Given the description of an element on the screen output the (x, y) to click on. 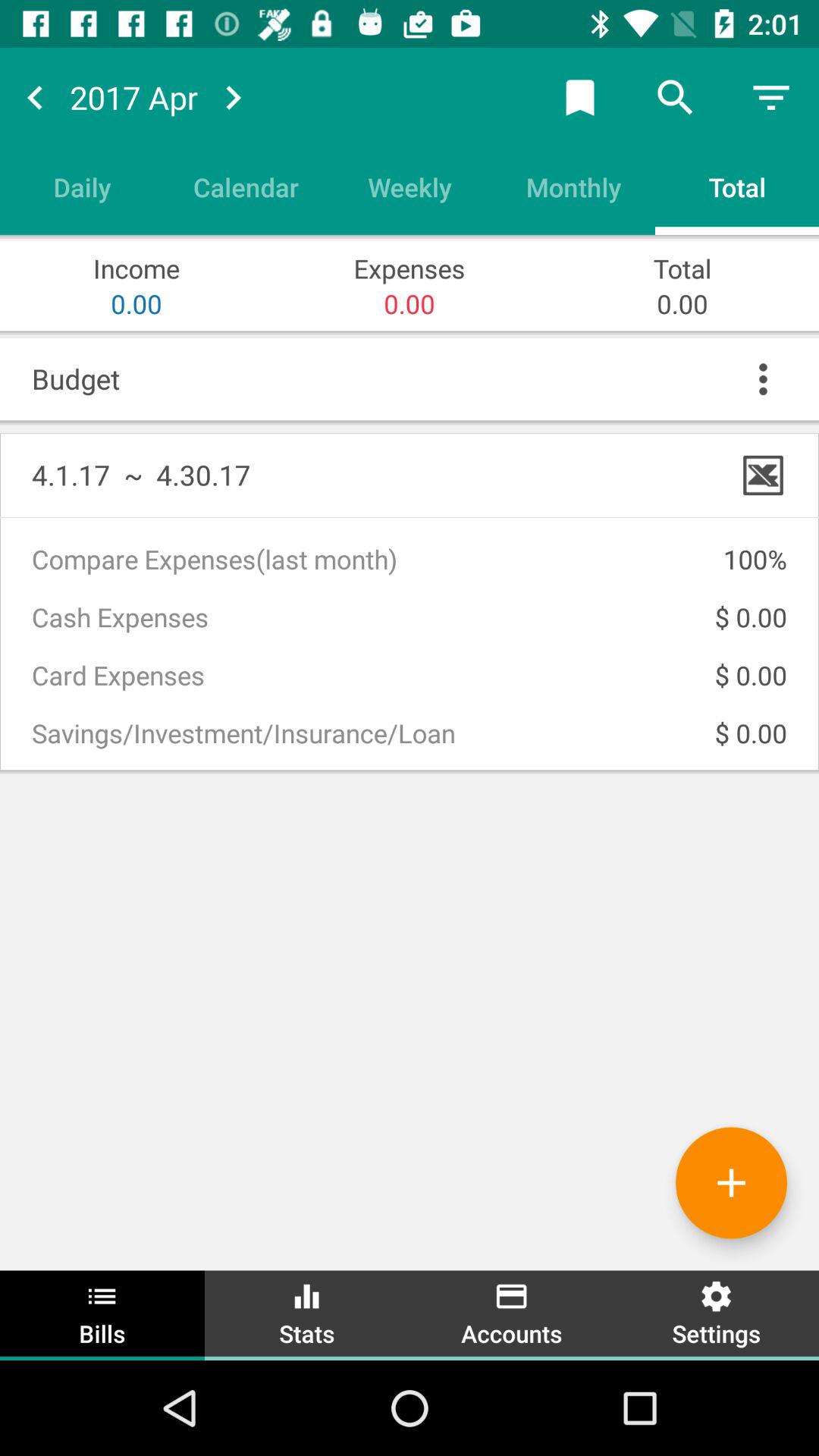
search (675, 97)
